Given the description of an element on the screen output the (x, y) to click on. 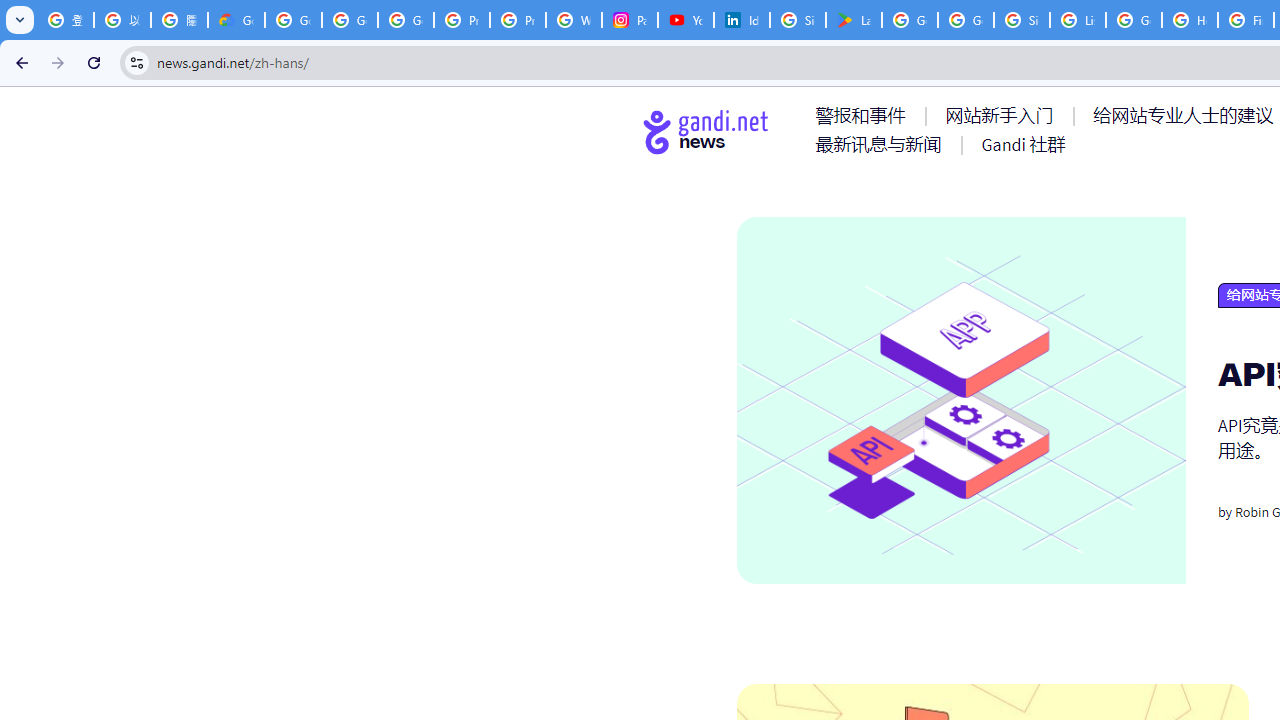
AutomationID: menu-item-77761 (863, 115)
Sign in - Google Accounts (797, 20)
AutomationID: menu-item-77762 (1003, 115)
